Given the description of an element on the screen output the (x, y) to click on. 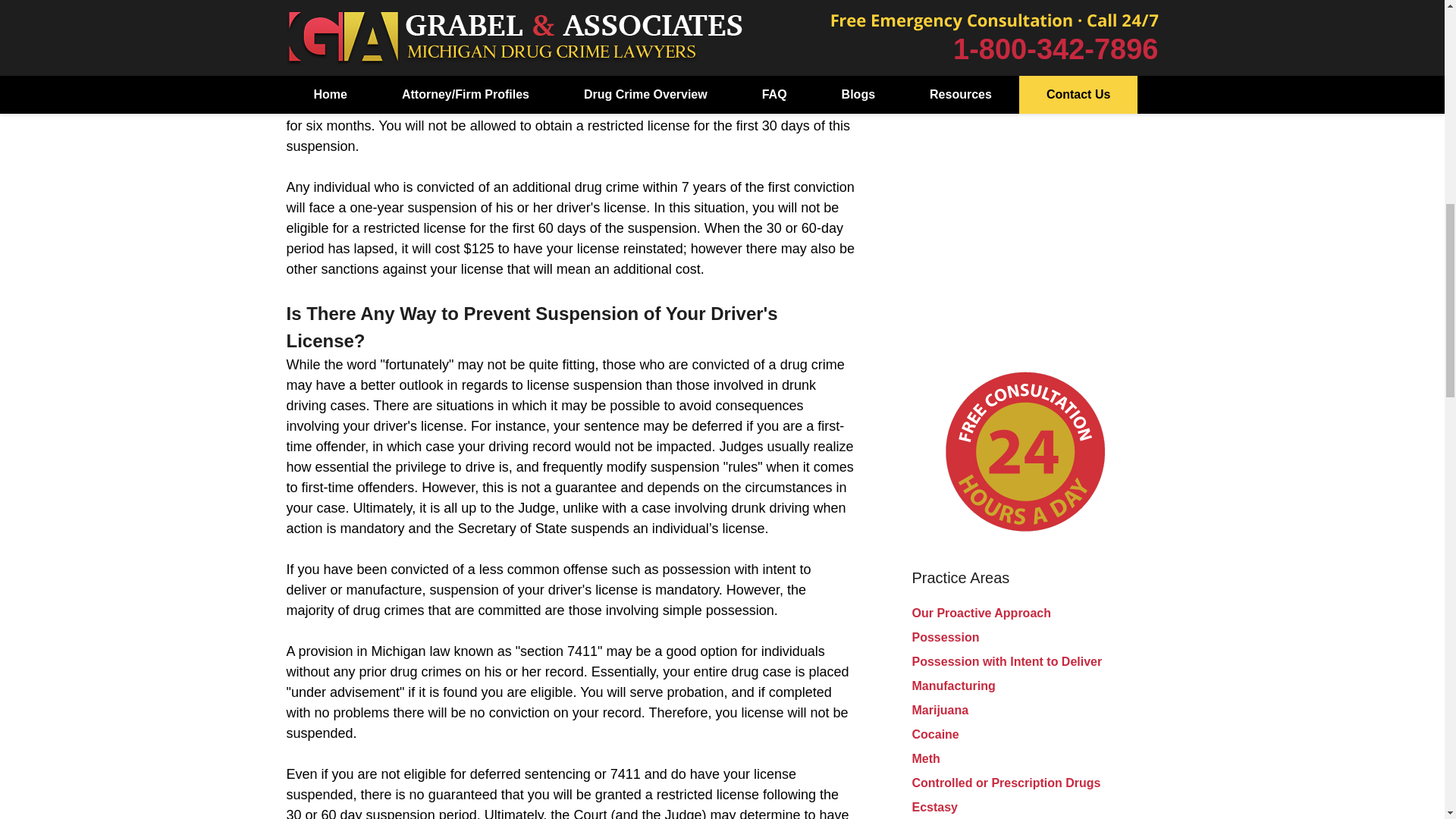
Possession with Intent to Deliver (1006, 661)
Controlled or Prescription Drugs (1005, 782)
Manufacturing (952, 685)
Our Proactive Approach (980, 612)
Meth (925, 758)
CONTACT US NOW (1024, 16)
Ecstasy (934, 807)
Cocaine (934, 734)
Marijuana (939, 709)
Possession (944, 636)
